Given the description of an element on the screen output the (x, y) to click on. 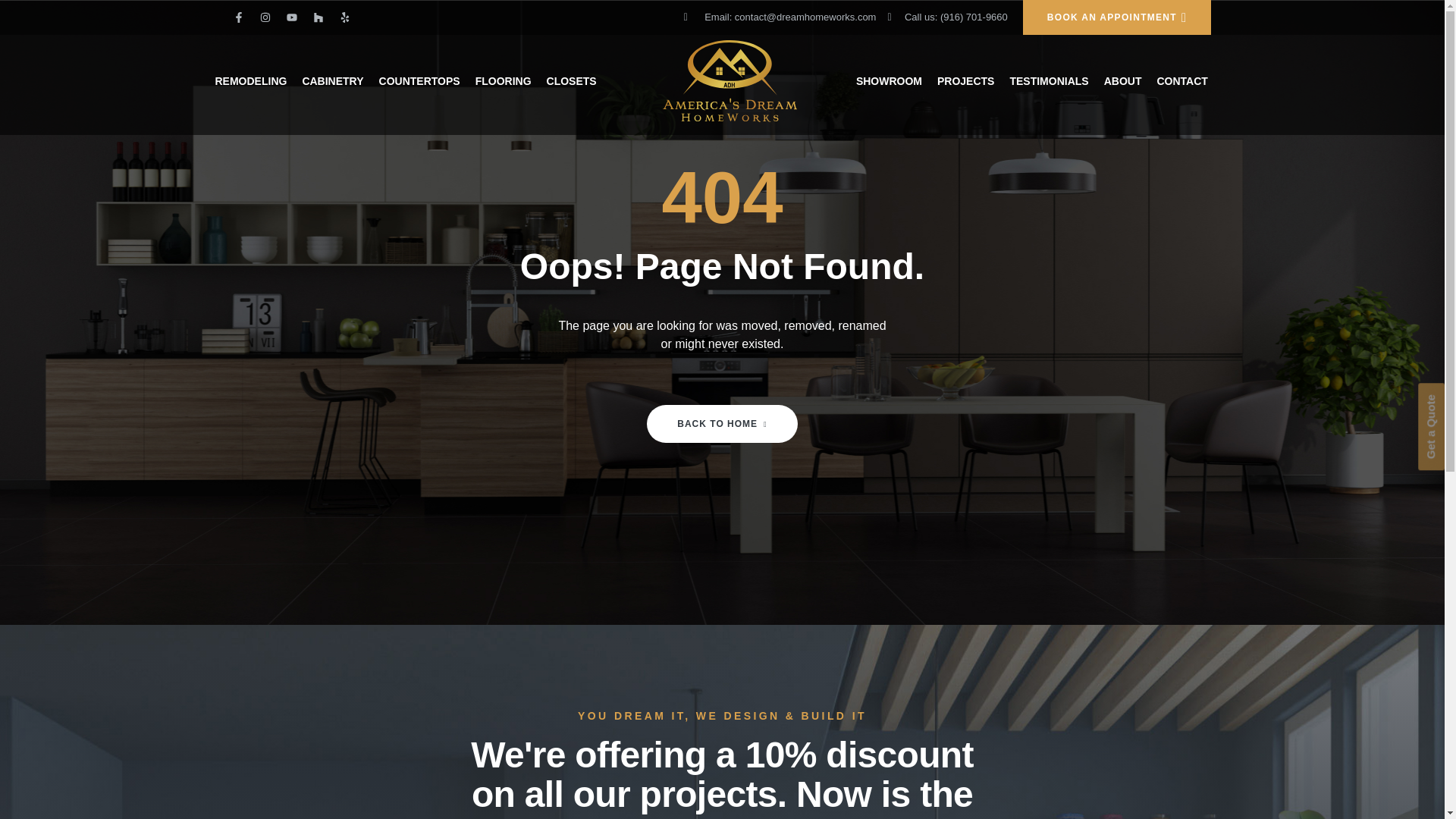
COUNTERTOPS (427, 80)
BOOK AN APPOINTMENT (1117, 17)
REMODELING (258, 80)
CABINETRY (339, 80)
